Given the description of an element on the screen output the (x, y) to click on. 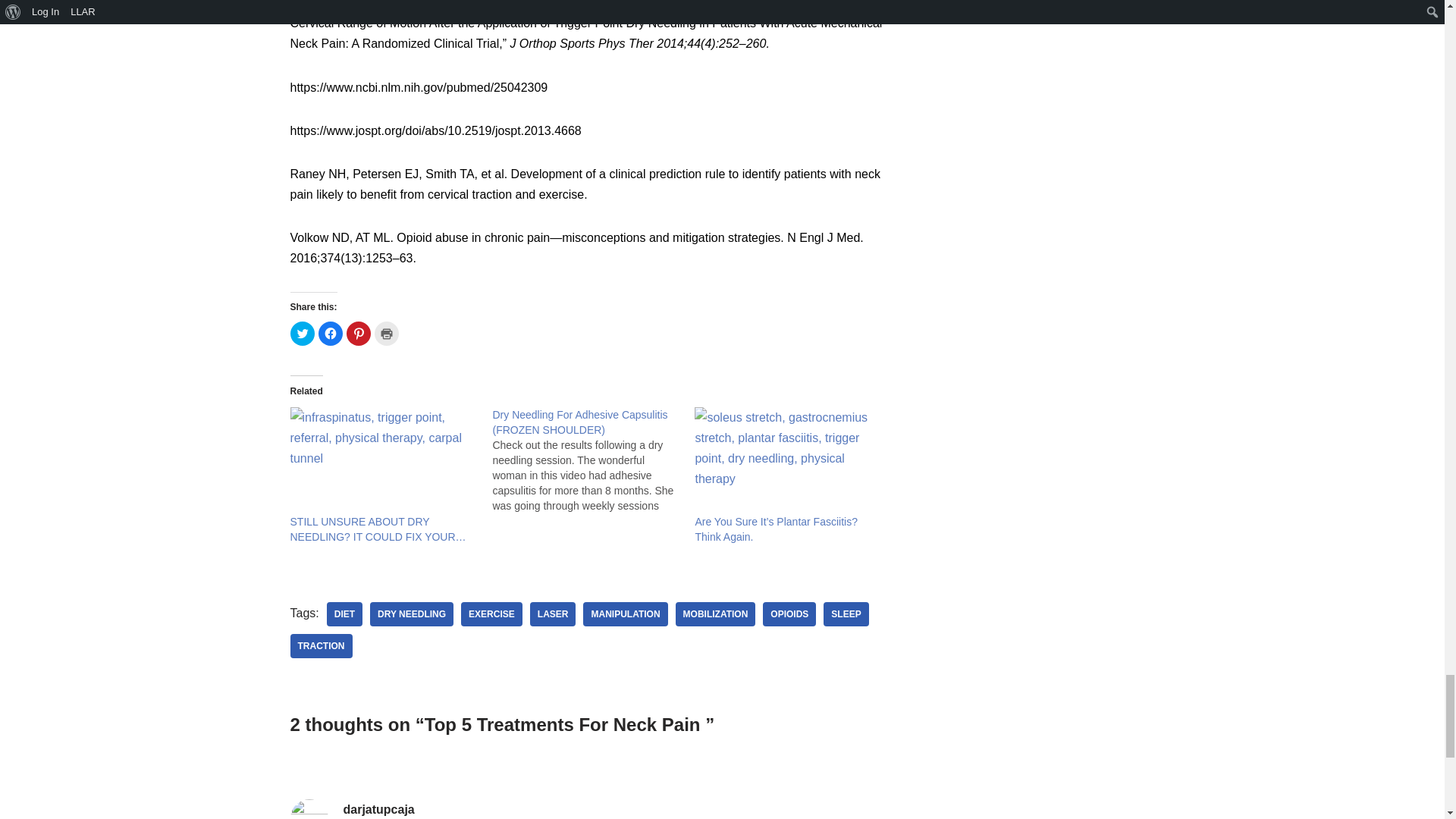
Click to print (386, 333)
diet (344, 613)
Click to share on Twitter (301, 333)
Click to share on Pinterest (357, 333)
Click to share on Facebook (330, 333)
